Given the description of an element on the screen output the (x, y) to click on. 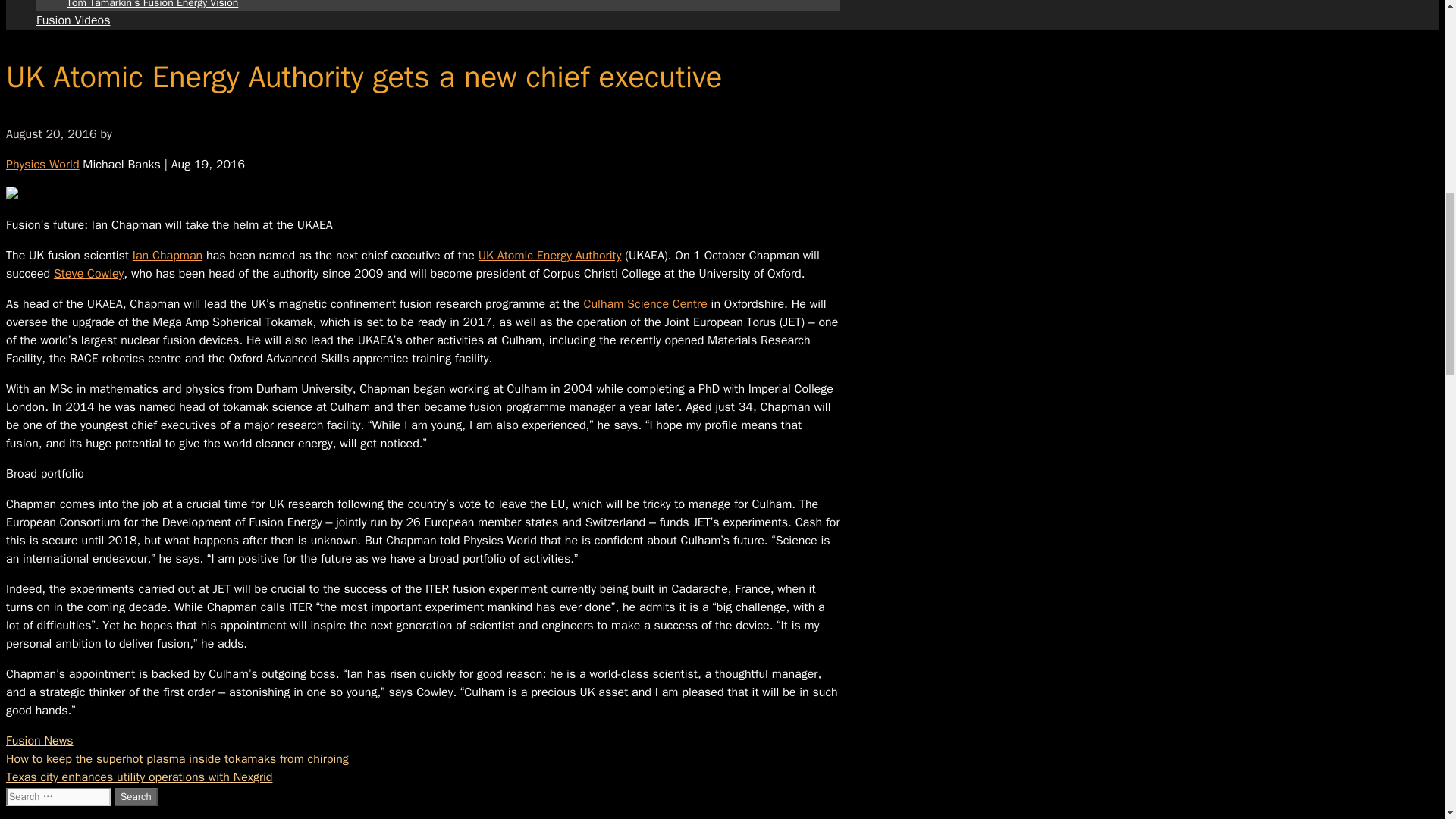
Search (136, 796)
Search for: (57, 796)
Search (136, 796)
Ian Chapman (167, 255)
Physics World (42, 164)
UK Atomic Energy Authority (550, 255)
Fusion Videos (73, 19)
